Given the description of an element on the screen output the (x, y) to click on. 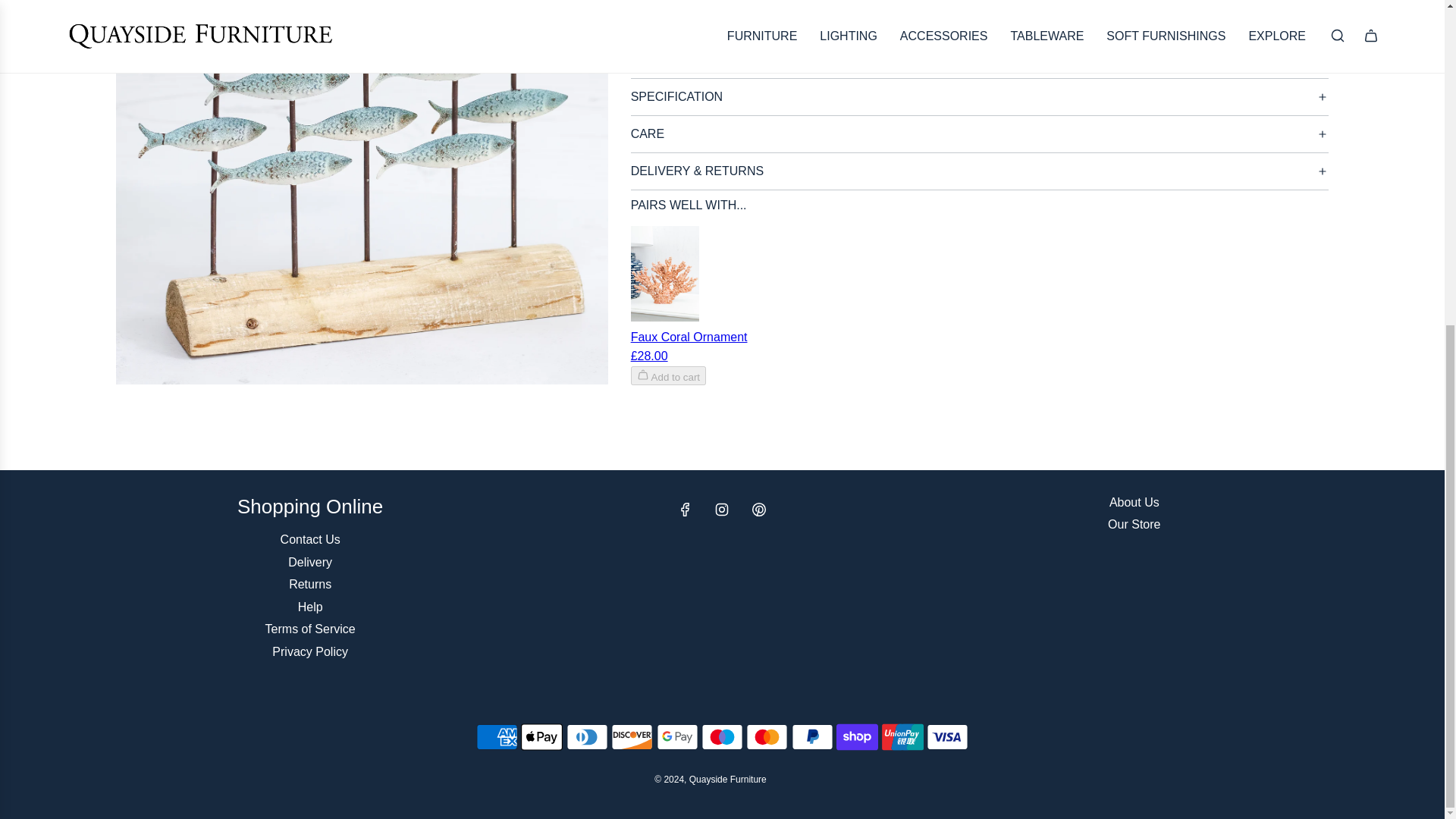
Union Pay (902, 736)
Mastercard (766, 736)
Shop Pay (856, 736)
Discover (631, 736)
Maestro (721, 736)
Google Pay (677, 736)
Apple Pay (541, 736)
American Express (497, 736)
1 (676, 1)
PayPal (812, 736)
Diners Club (587, 736)
